Given the description of an element on the screen output the (x, y) to click on. 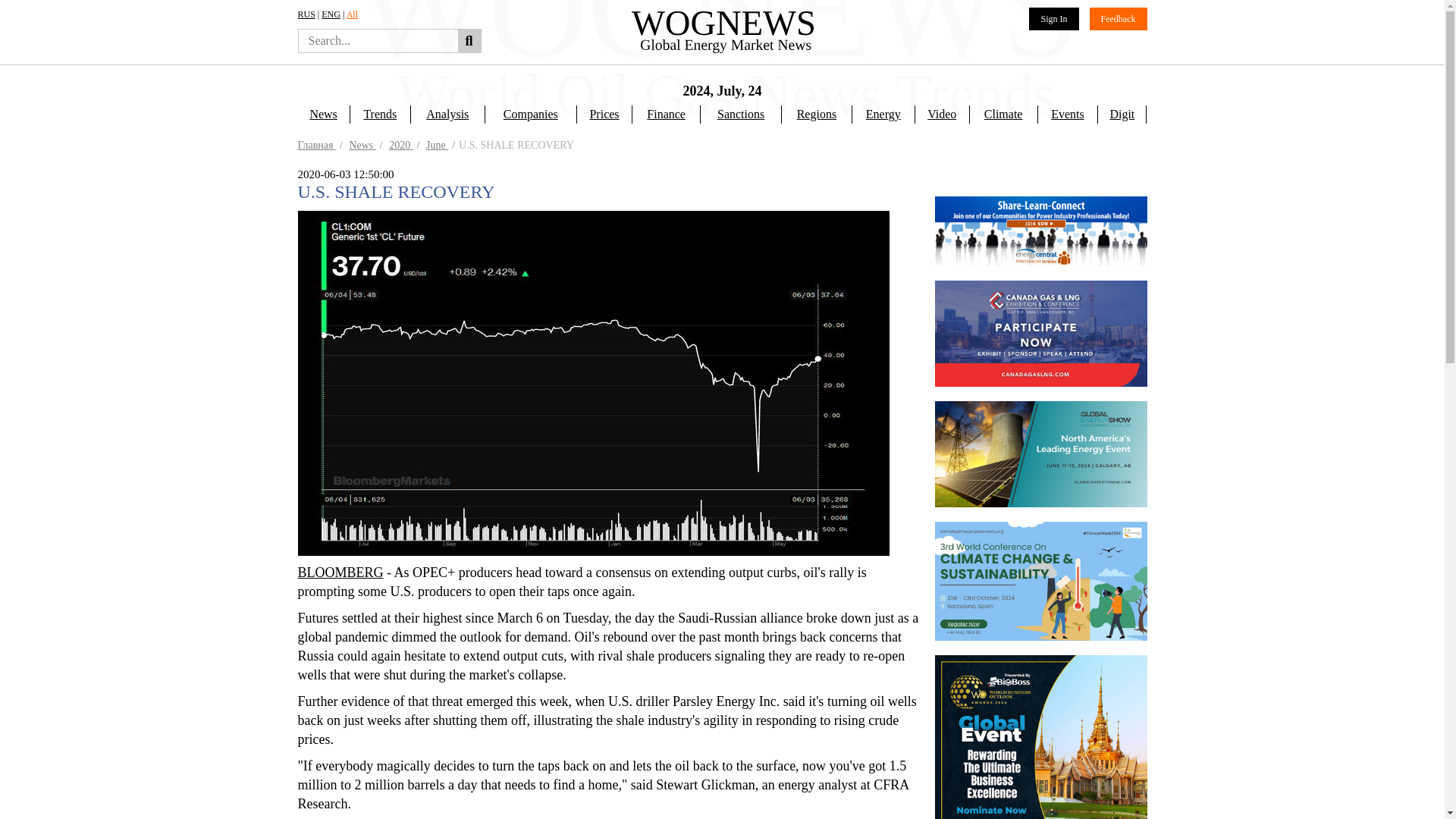
Canada Gas Exhibition and Conference May 7-9, 2024 (1040, 454)
Companies (530, 114)
ENERGY-CENTRAL-1 (1040, 231)
ENERGY-CENTRAL-1 (1040, 273)
Prices (603, 114)
Feedback (1118, 18)
GLOBAL ENERGY SHOW CANADA, June 11-13, 2024 (1040, 574)
RUS (305, 14)
Trends (379, 114)
Canada Gas Exhibition and Conference May 7-9, 2024 (1040, 333)
Sign In (1053, 18)
Sanctions (740, 114)
Analysis (447, 114)
Finance (665, 114)
Energy (883, 114)
